Given the description of an element on the screen output the (x, y) to click on. 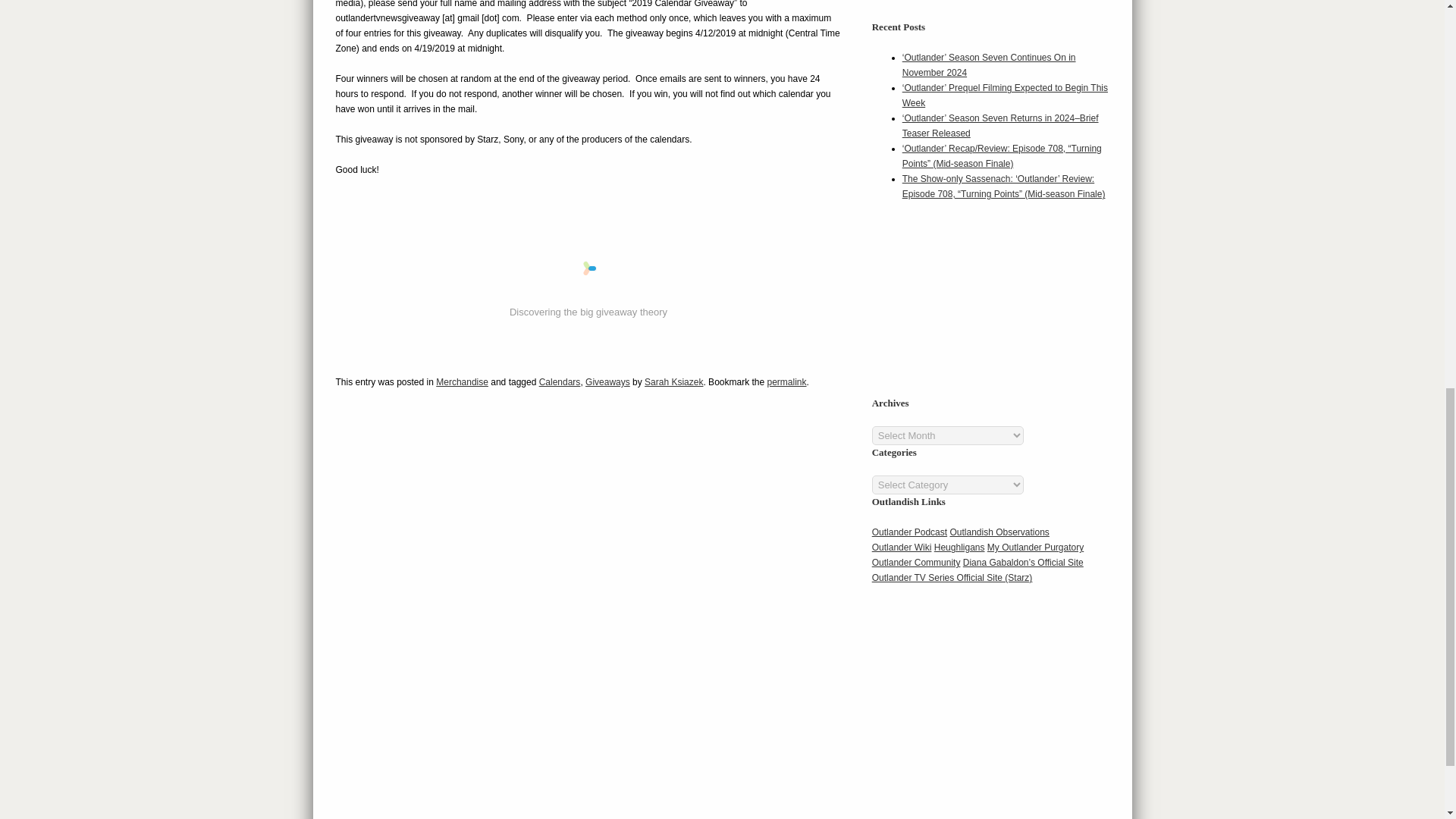
permalink (786, 381)
Giveaways (607, 381)
Outlander Community (916, 562)
Merchandise (461, 381)
Outlander Podcast (909, 532)
Outlander Wiki (901, 547)
Heughligans (959, 547)
My Outlander Purgatory (1035, 547)
Sarah Ksiazek (674, 381)
Calendars (559, 381)
